Given the description of an element on the screen output the (x, y) to click on. 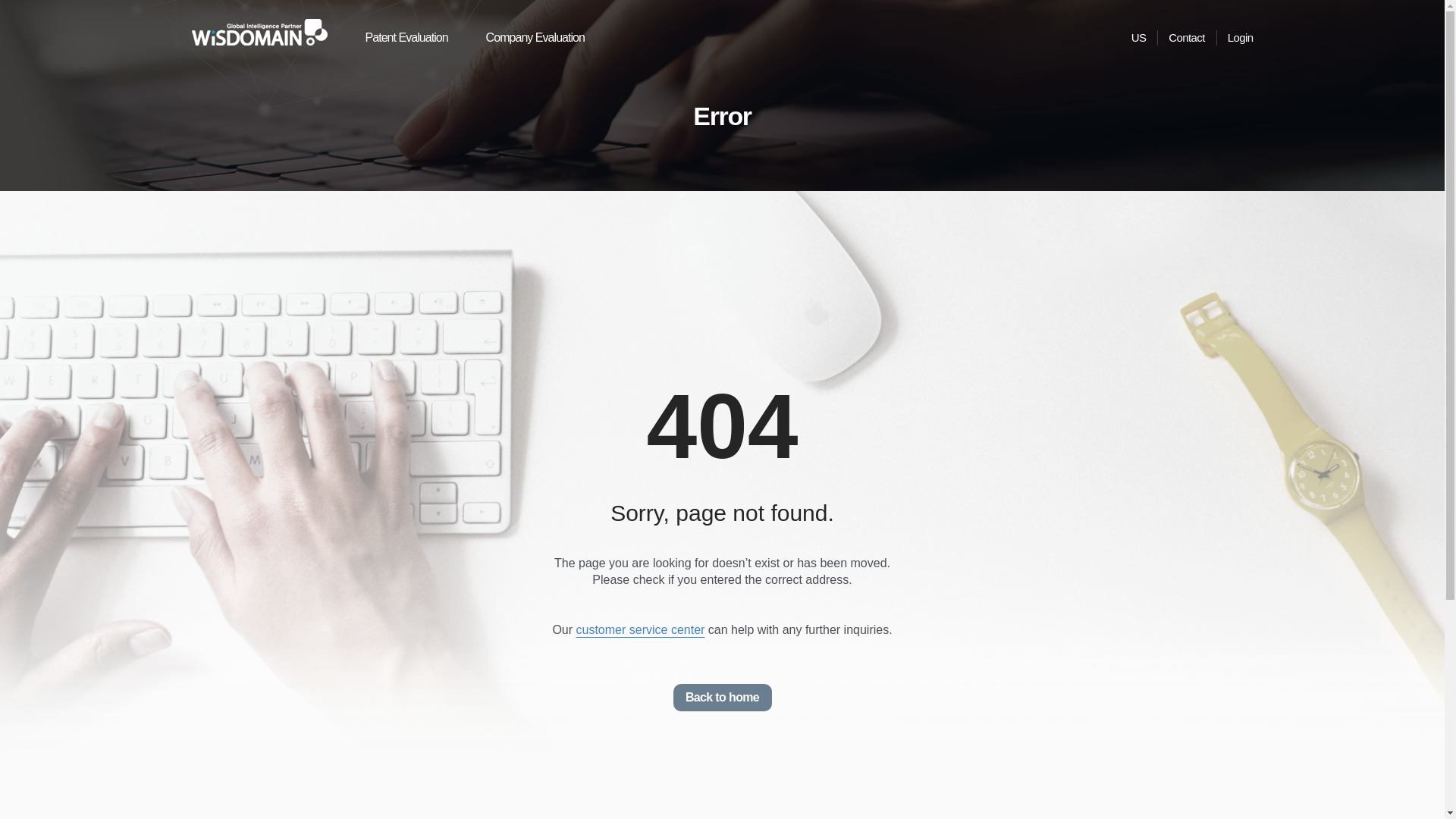
Patent Evaluation (406, 37)
Back to home (721, 697)
Contact (1187, 37)
customer service center (640, 629)
US (1139, 37)
Company Evaluation (535, 37)
Login (1240, 37)
